Given the description of an element on the screen output the (x, y) to click on. 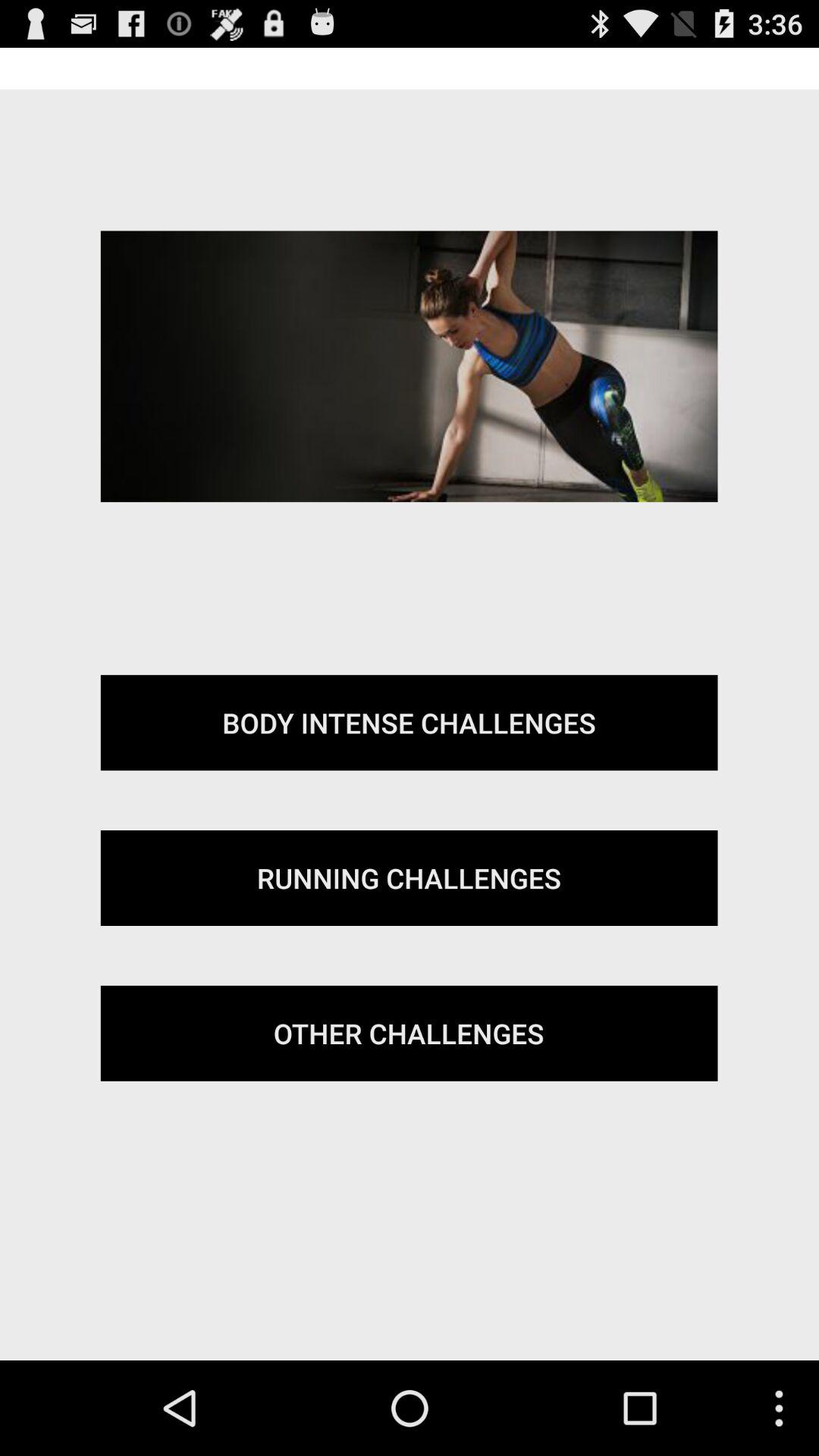
tap item at the bottom (408, 1033)
